Given the description of an element on the screen output the (x, y) to click on. 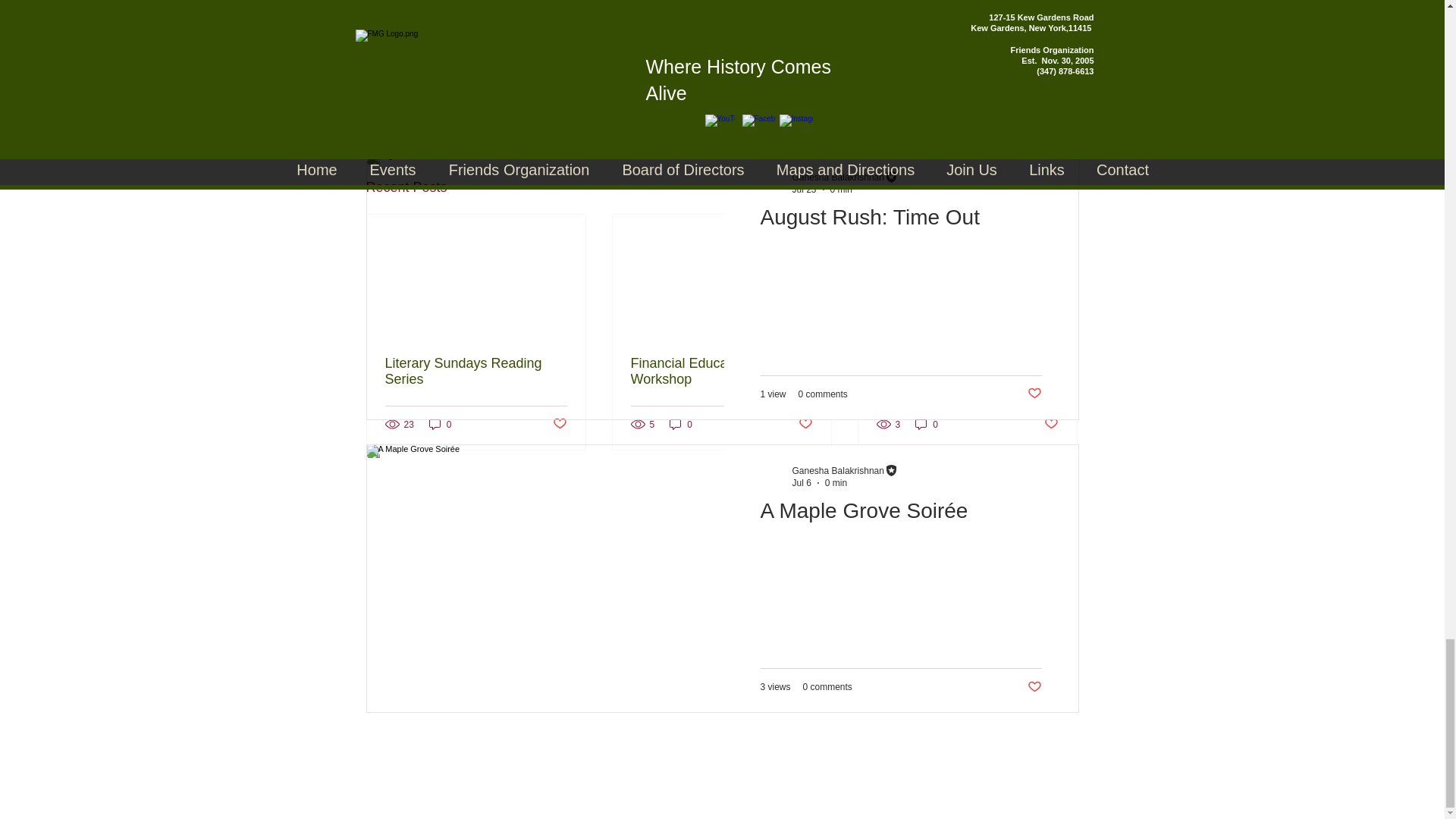
Past Events (974, 59)
See All (1061, 187)
0 min (836, 482)
0 min (840, 189)
Ganesha Balakrishnan (837, 176)
Post not marked as liked (558, 424)
0 (440, 423)
Jul 23 (803, 189)
Post not marked as liked (995, 105)
Ganesha Balakrishnan (837, 470)
